Given the description of an element on the screen output the (x, y) to click on. 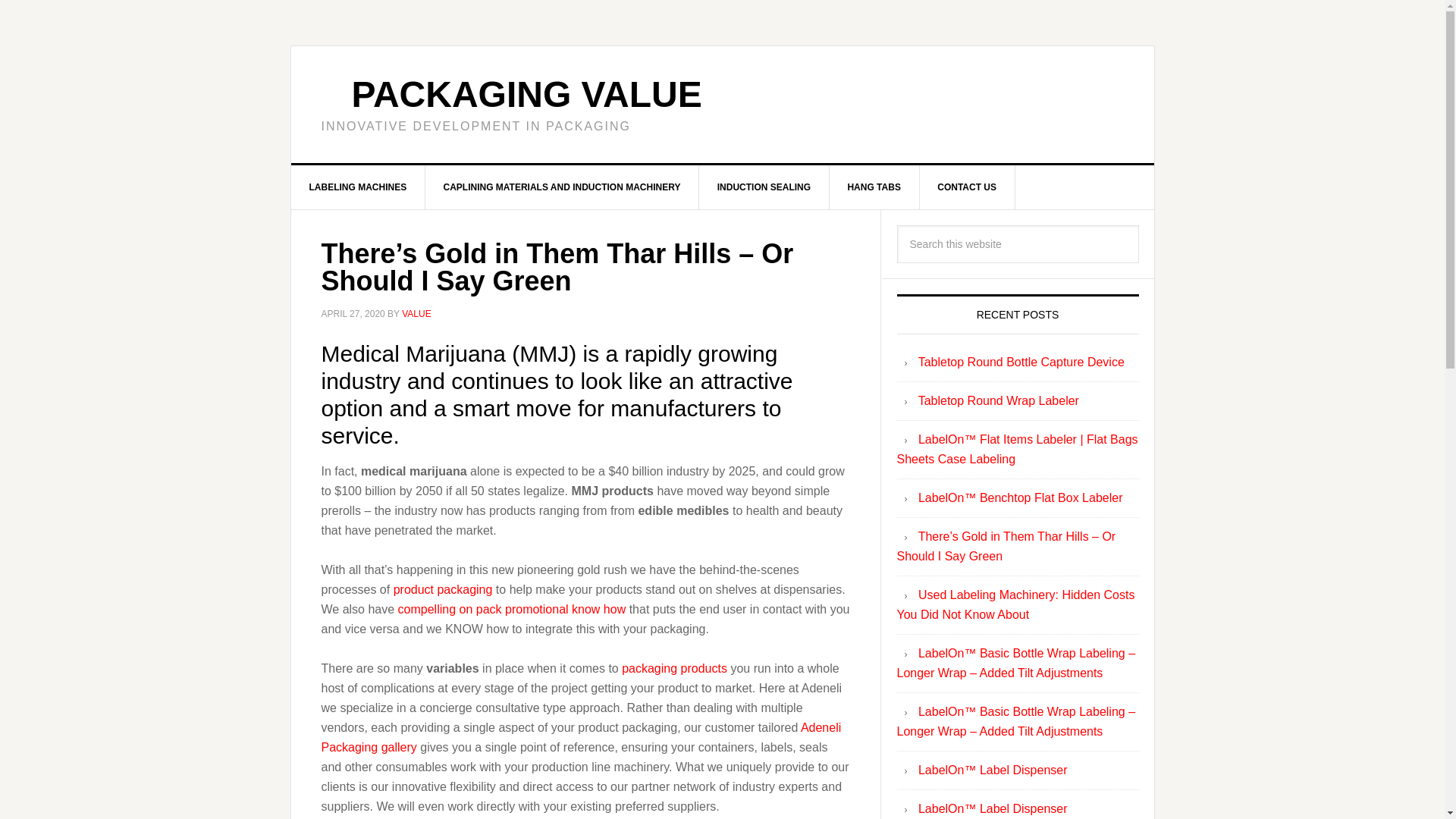
HANG TABS (873, 187)
INDUCTION SEALING (763, 187)
Tabletop Round Bottle Capture Device (1021, 361)
PACKAGING VALUE (526, 94)
Used Labeling Machinery: Hidden Costs You Did Not Know About (1015, 604)
CONTACT US (966, 187)
VALUE (415, 313)
CAPLINING MATERIALS AND INDUCTION MACHINERY (562, 187)
